Given the description of an element on the screen output the (x, y) to click on. 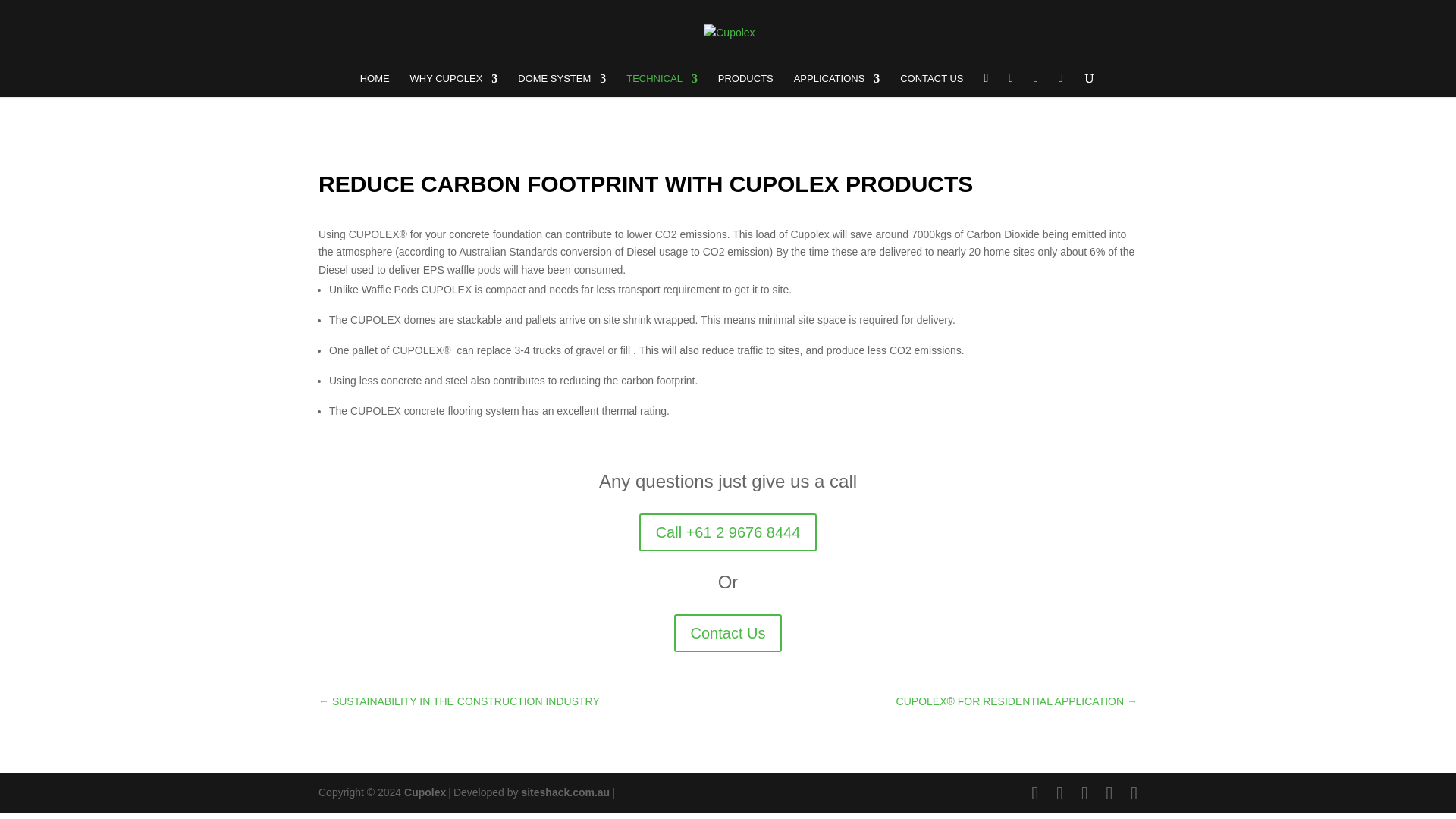
DOME SYSTEM (561, 85)
WHY CUPOLEX (453, 85)
TECHNICAL (661, 85)
CONTACT US (930, 85)
Contact Us (728, 632)
APPLICATIONS (836, 85)
PRODUCTS (745, 85)
HOME (374, 85)
